Given the description of an element on the screen output the (x, y) to click on. 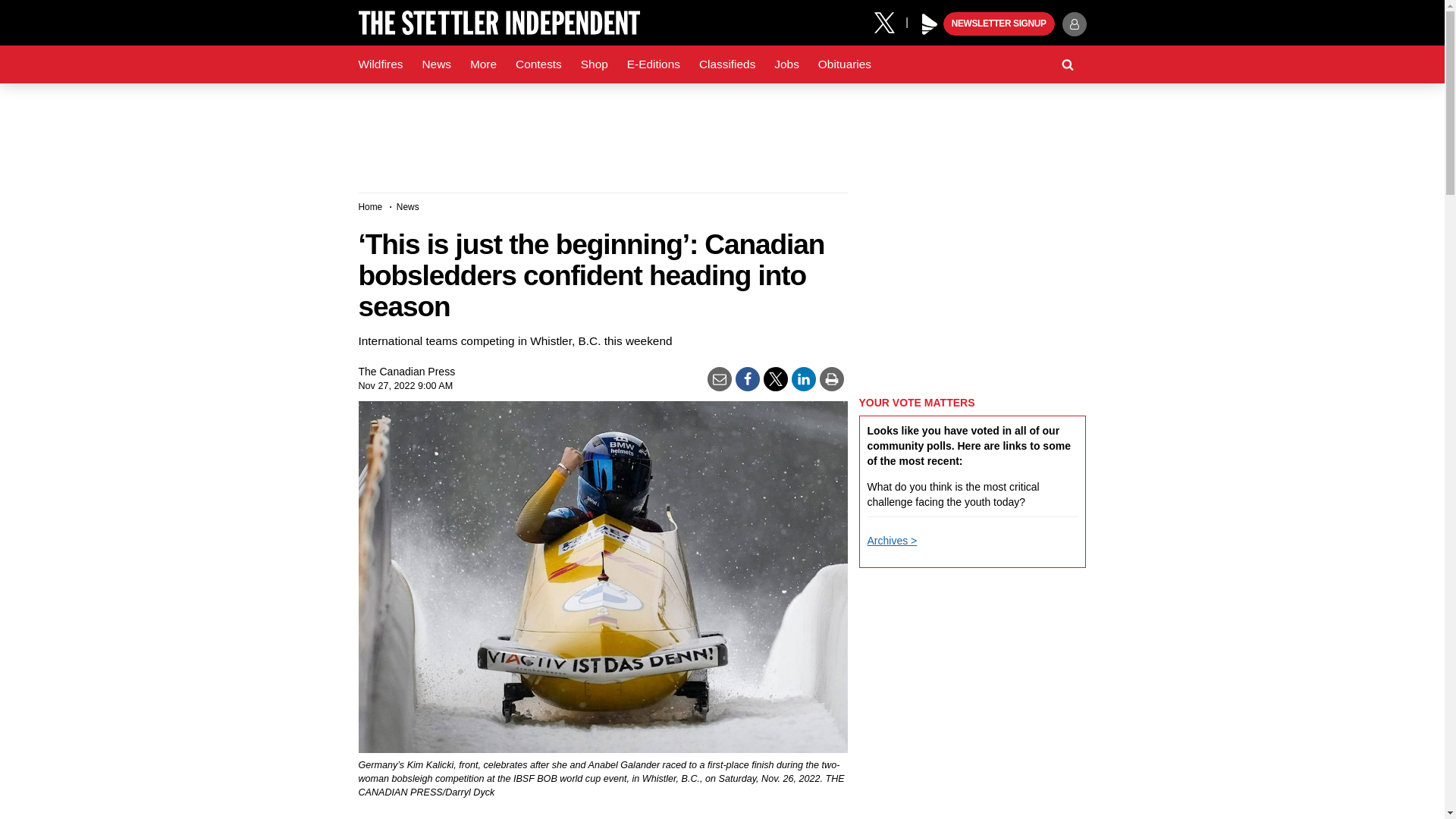
X (889, 21)
News (435, 64)
NEWSLETTER SIGNUP (998, 24)
Wildfires (380, 64)
Play (929, 24)
Black Press Media (929, 24)
